Given the description of an element on the screen output the (x, y) to click on. 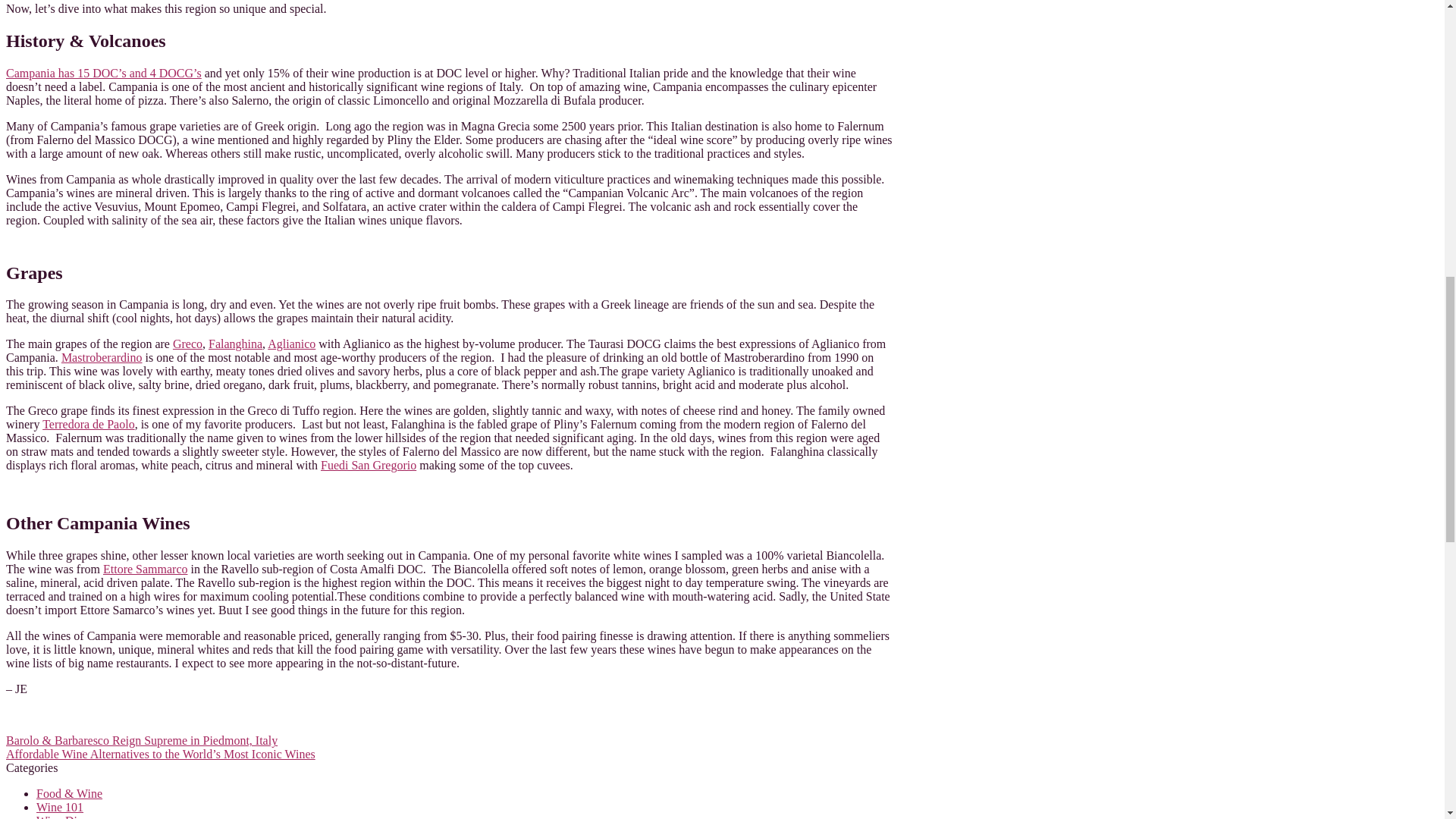
Falanghina (235, 343)
Mastroberardino (101, 357)
Terredora de Paolo (88, 423)
Aglianico (291, 343)
Fuedi San Gregorio (368, 464)
Wine 101 (59, 807)
Greco (187, 343)
Ettore Sammarco (145, 568)
